Given the description of an element on the screen output the (x, y) to click on. 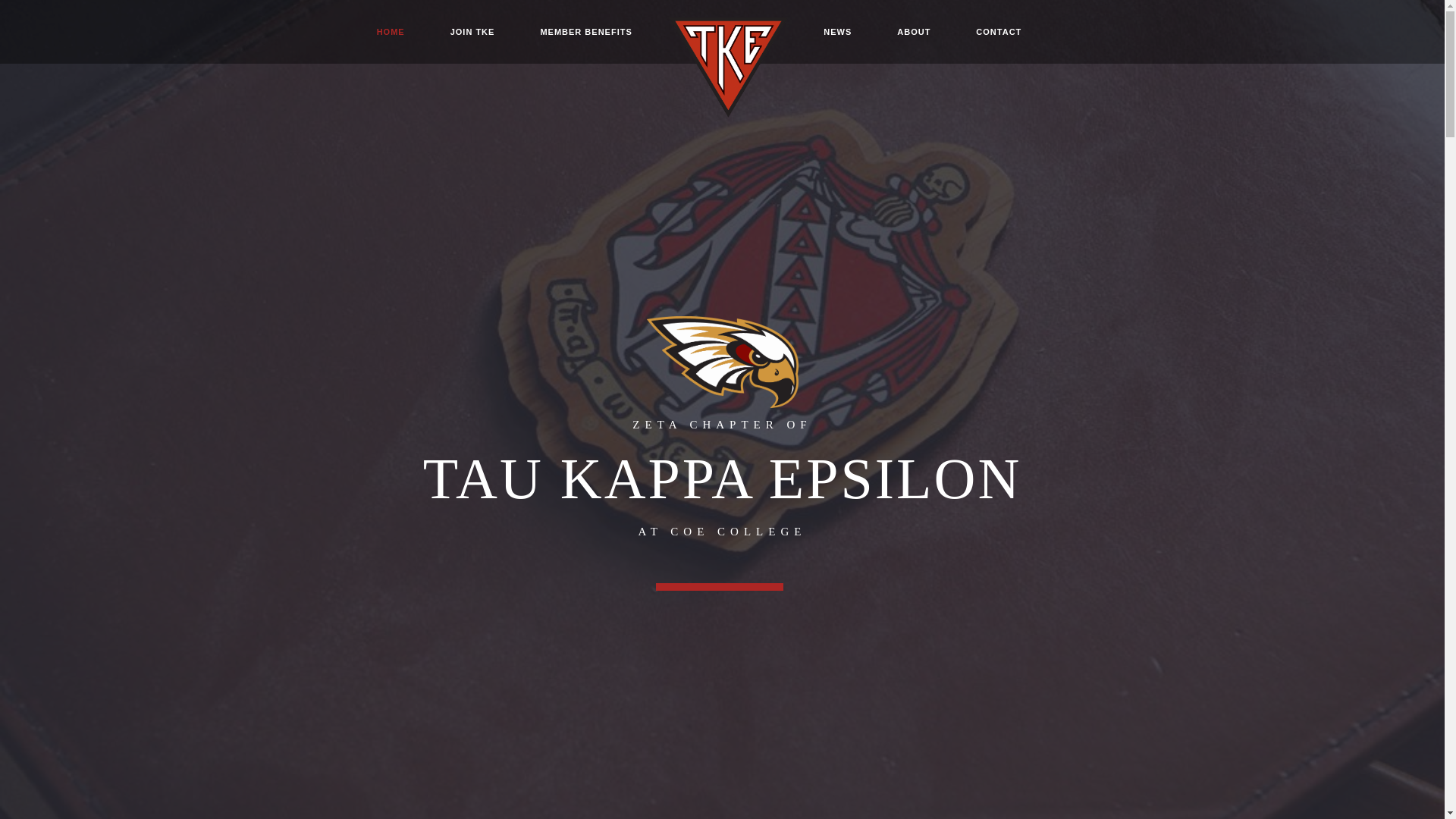
HOME (390, 31)
NEWS (837, 31)
HOME (390, 31)
CONTACT (998, 31)
JOIN TKE (473, 31)
ABOUT (914, 31)
MEMBER BENEFITS (584, 31)
CONTACT (998, 31)
